Given the description of an element on the screen output the (x, y) to click on. 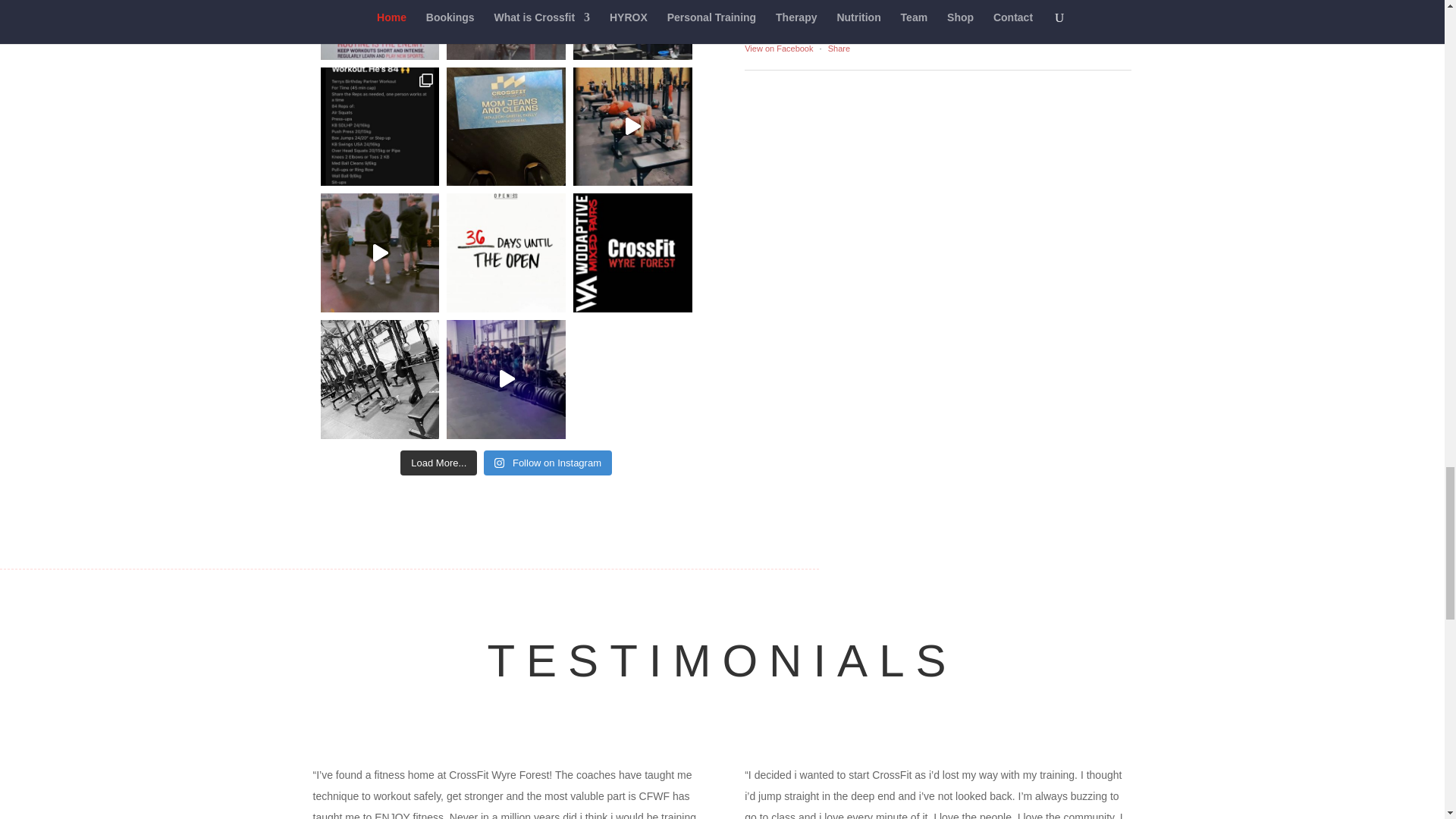
Share (839, 48)
View on Facebook (778, 48)
